Given the description of an element on the screen output the (x, y) to click on. 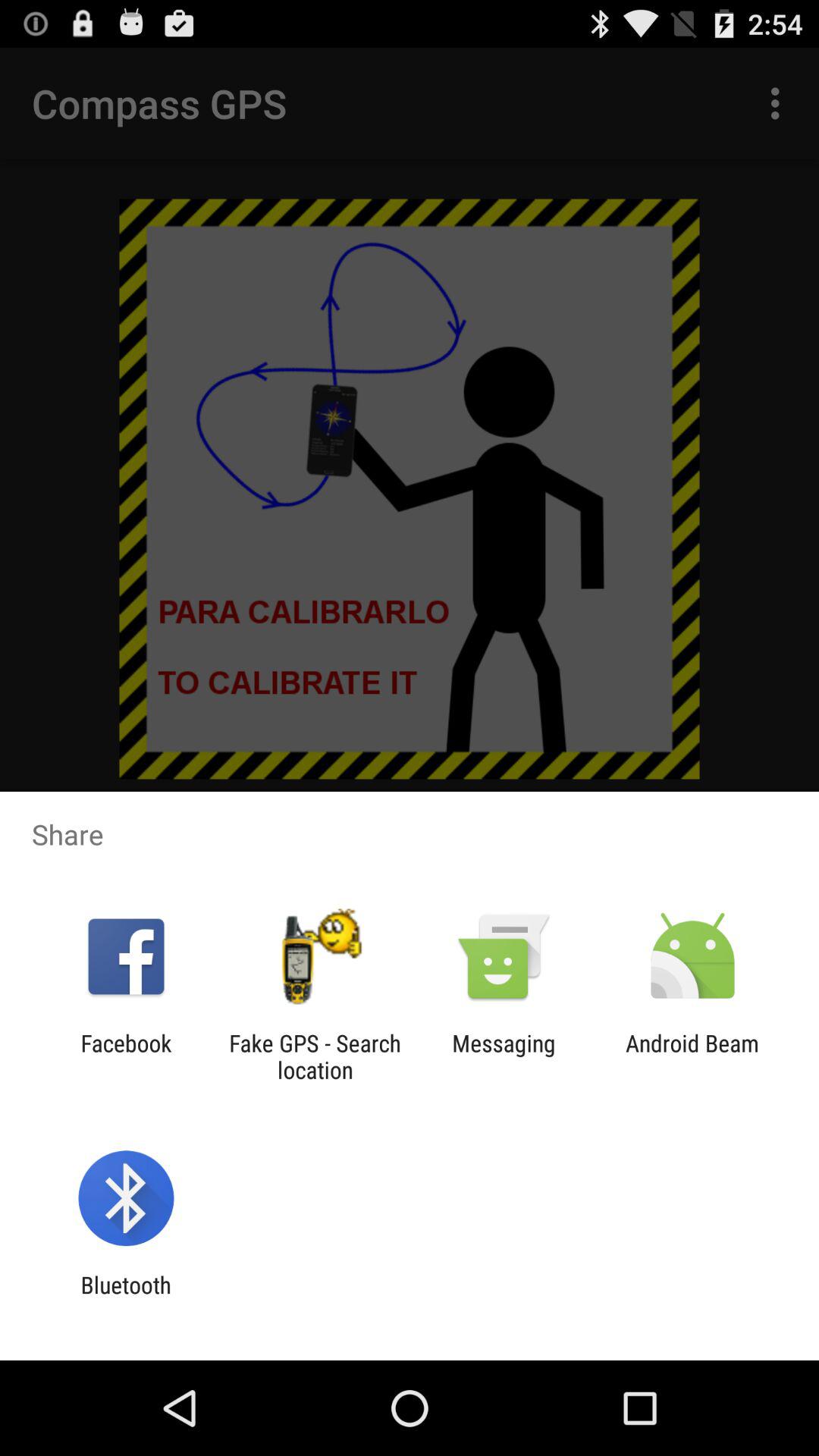
turn on the fake gps search app (314, 1056)
